Given the description of an element on the screen output the (x, y) to click on. 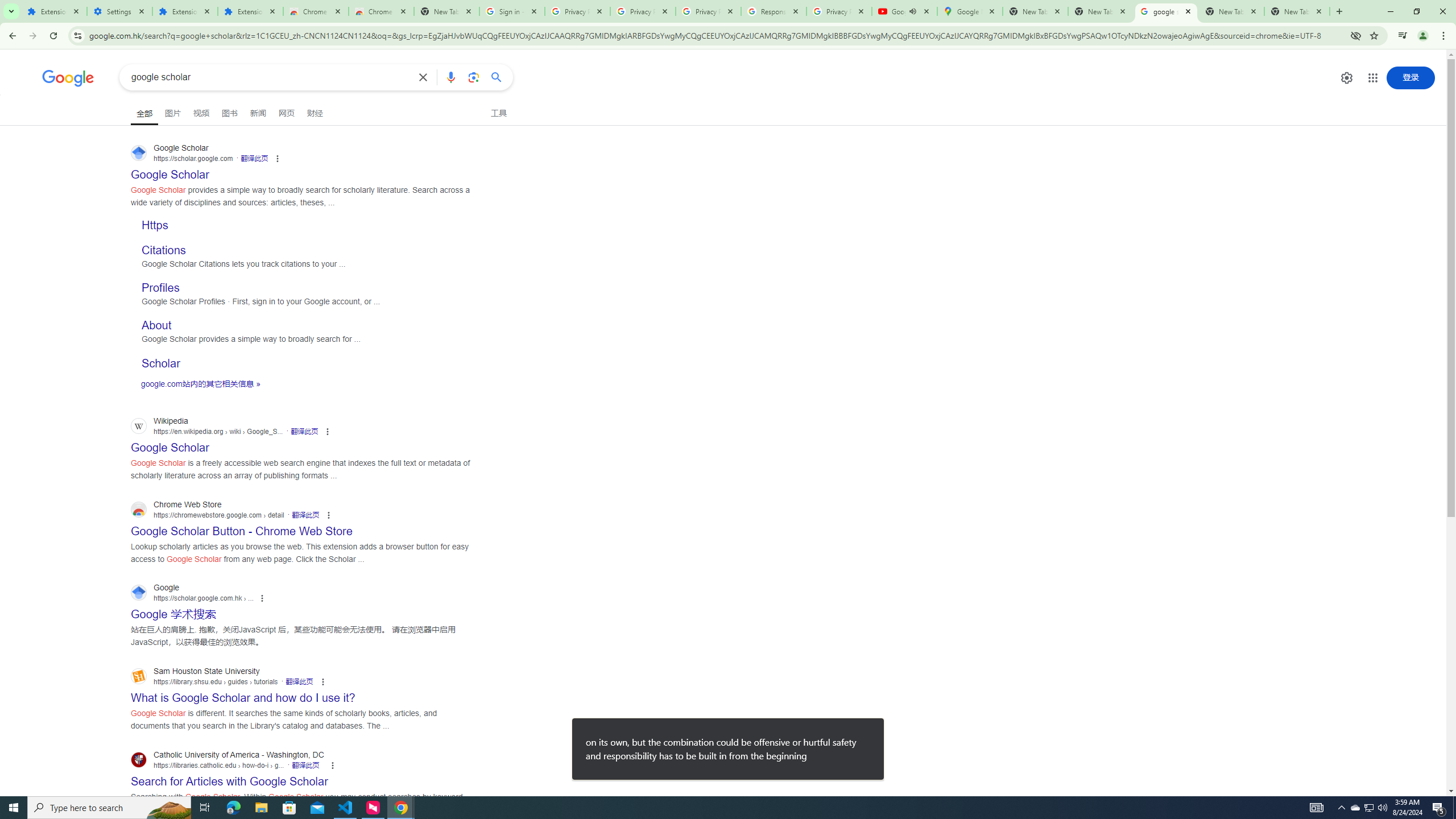
Scholar (160, 362)
Sign in - Google Accounts (512, 11)
Https (154, 224)
